Given the description of an element on the screen output the (x, y) to click on. 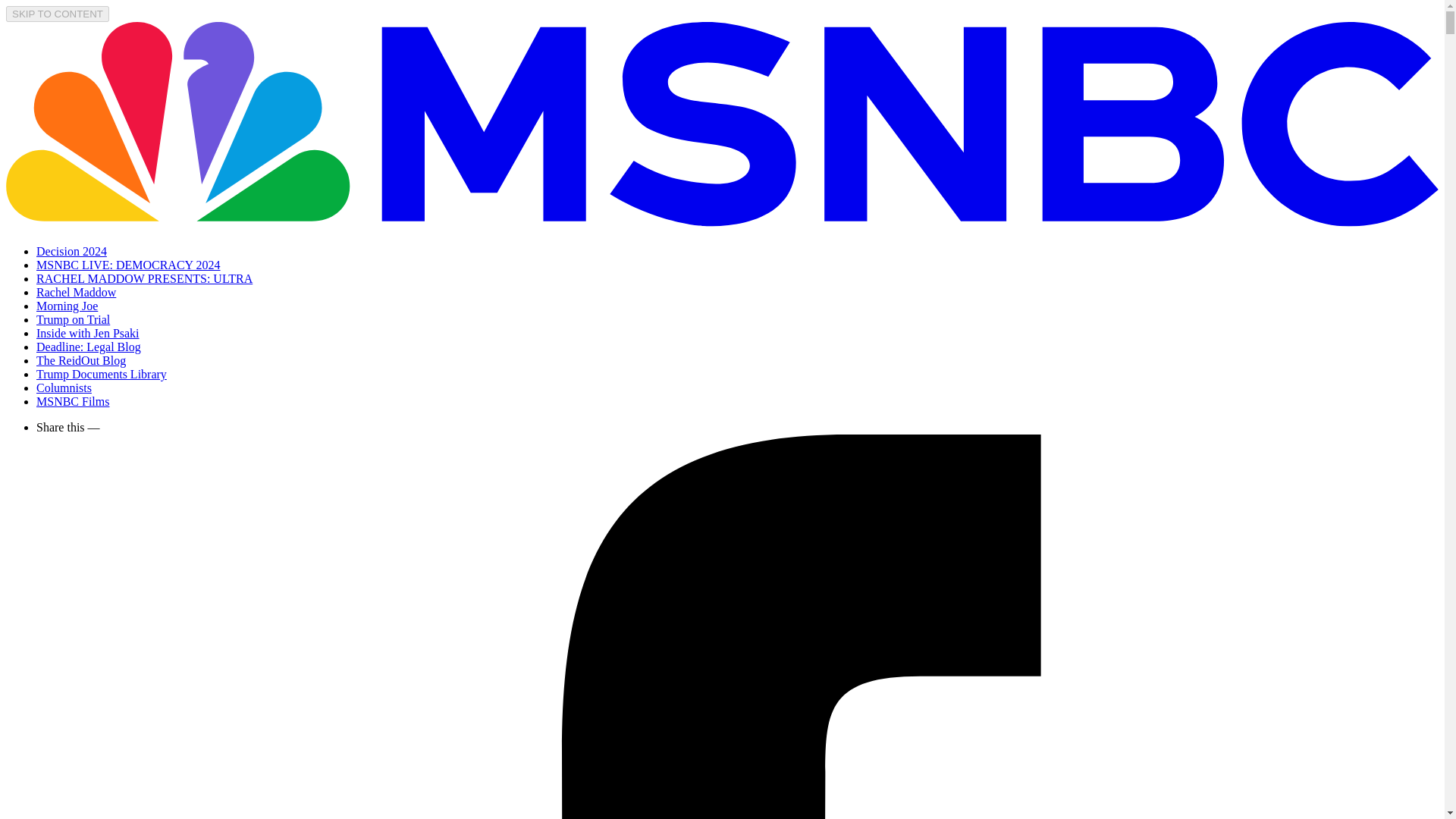
RACHEL MADDOW PRESENTS: ULTRA (143, 278)
Deadline: Legal Blog (88, 346)
Columnists (63, 387)
Morning Joe (66, 305)
MSNBC LIVE: DEMOCRACY 2024 (128, 264)
MSNBC Films (72, 400)
Rachel Maddow (76, 291)
Trump on Trial (73, 318)
SKIP TO CONTENT (57, 13)
Trump Documents Library (101, 373)
